Given the description of an element on the screen output the (x, y) to click on. 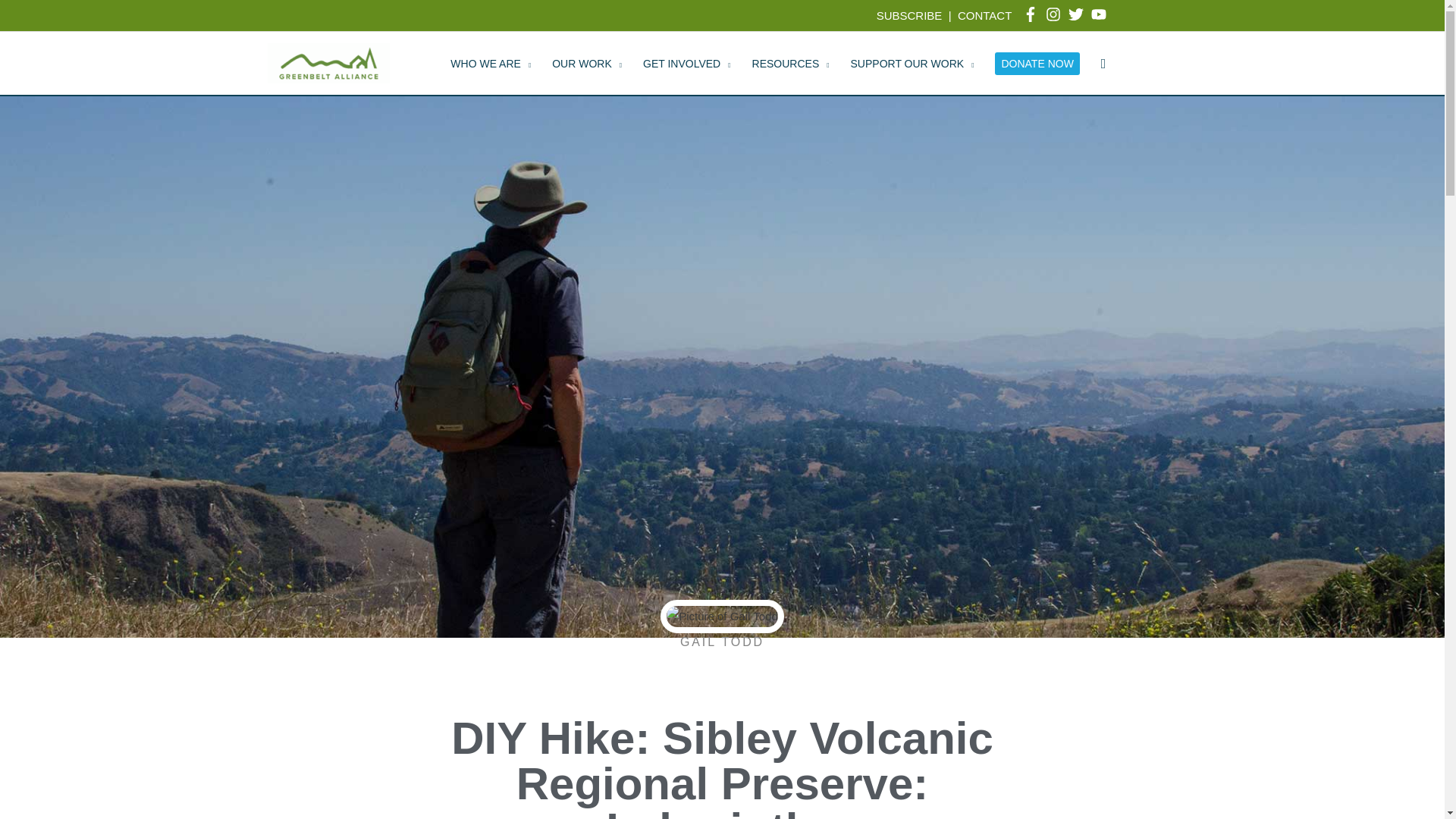
GET INVOLVED (686, 63)
SUBSCRIBE (909, 15)
OUR WORK (586, 63)
CONTACT (984, 15)
WHO WE ARE (490, 63)
